Given the description of an element on the screen output the (x, y) to click on. 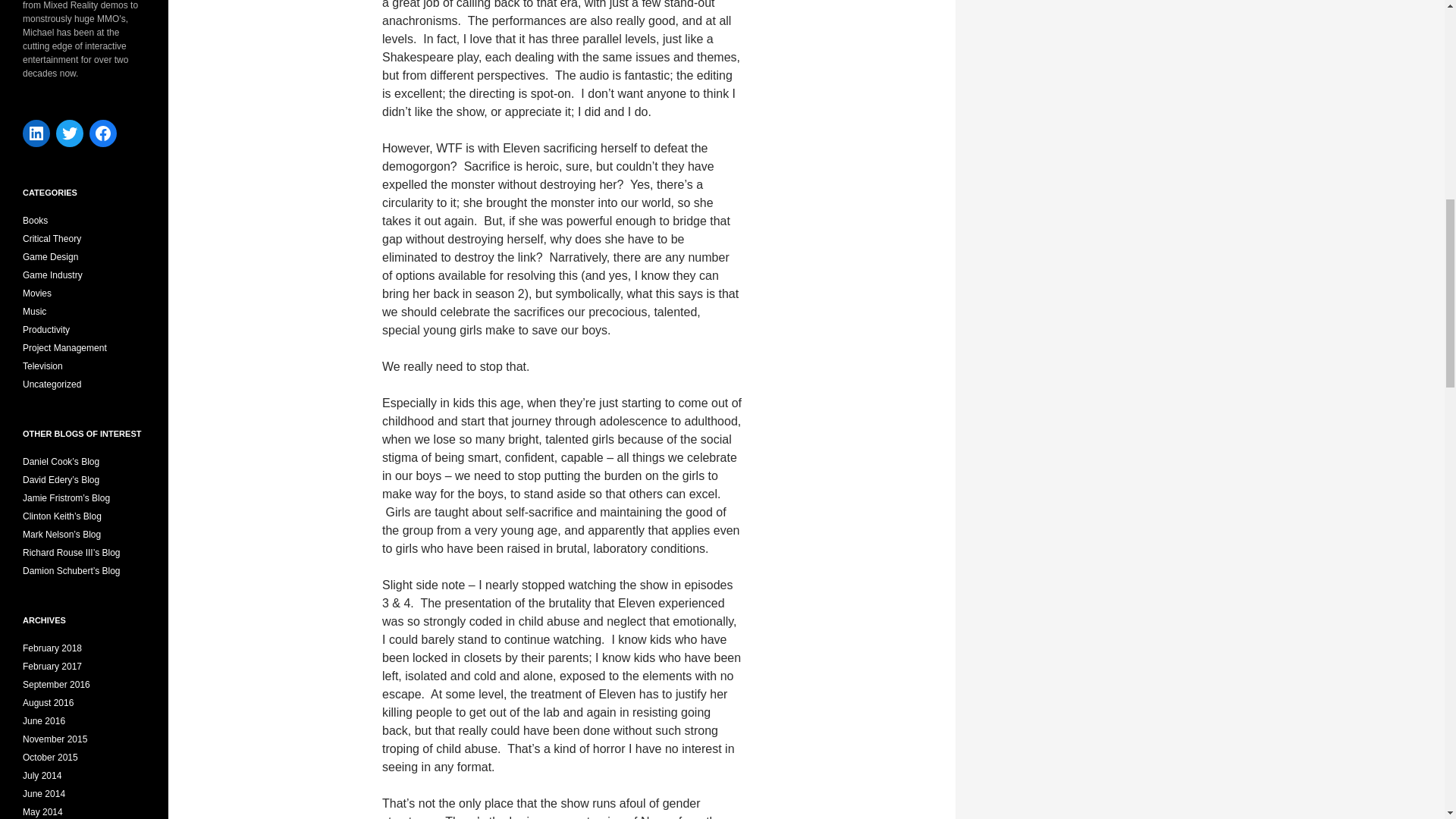
Project Management (64, 347)
Game Industry (52, 275)
Movies (36, 293)
Books (35, 220)
Game Design (50, 256)
Productivity (46, 329)
Critical Theory (52, 238)
Music (34, 311)
